Given the description of an element on the screen output the (x, y) to click on. 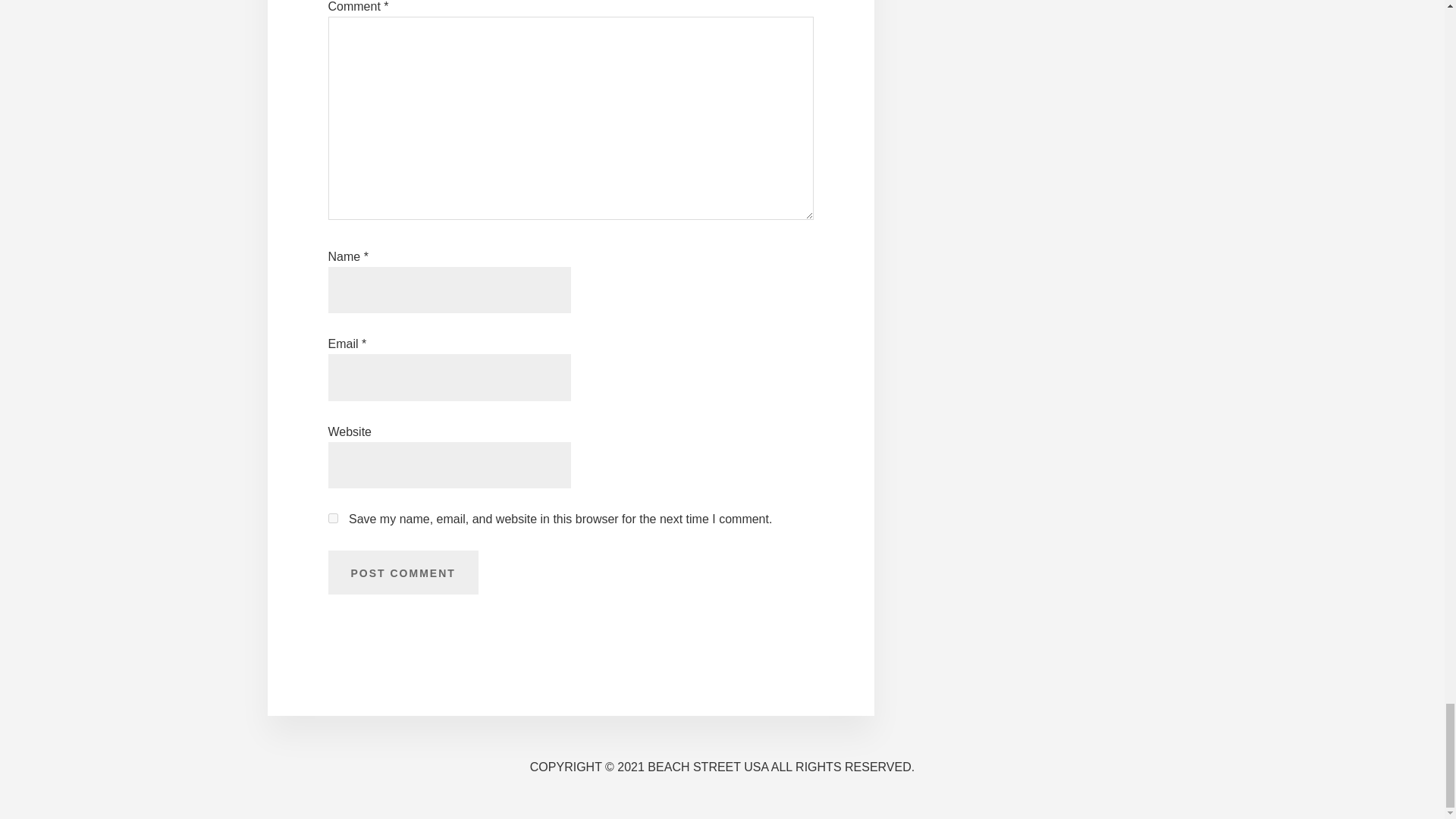
Post Comment (402, 572)
yes (332, 518)
Post Comment (402, 572)
